Given the description of an element on the screen output the (x, y) to click on. 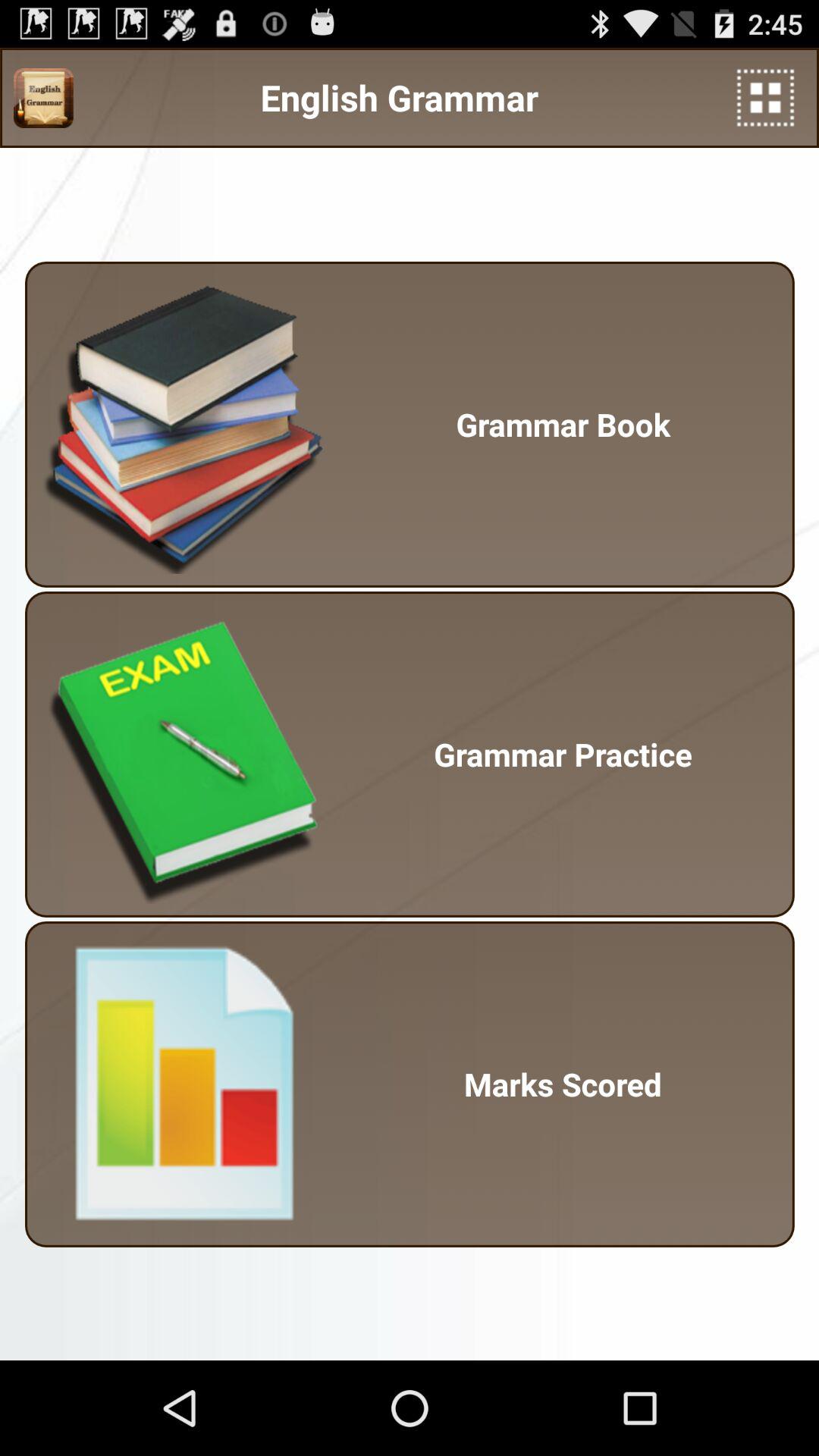
open icon to the left of the english grammar icon (43, 97)
